Given the description of an element on the screen output the (x, y) to click on. 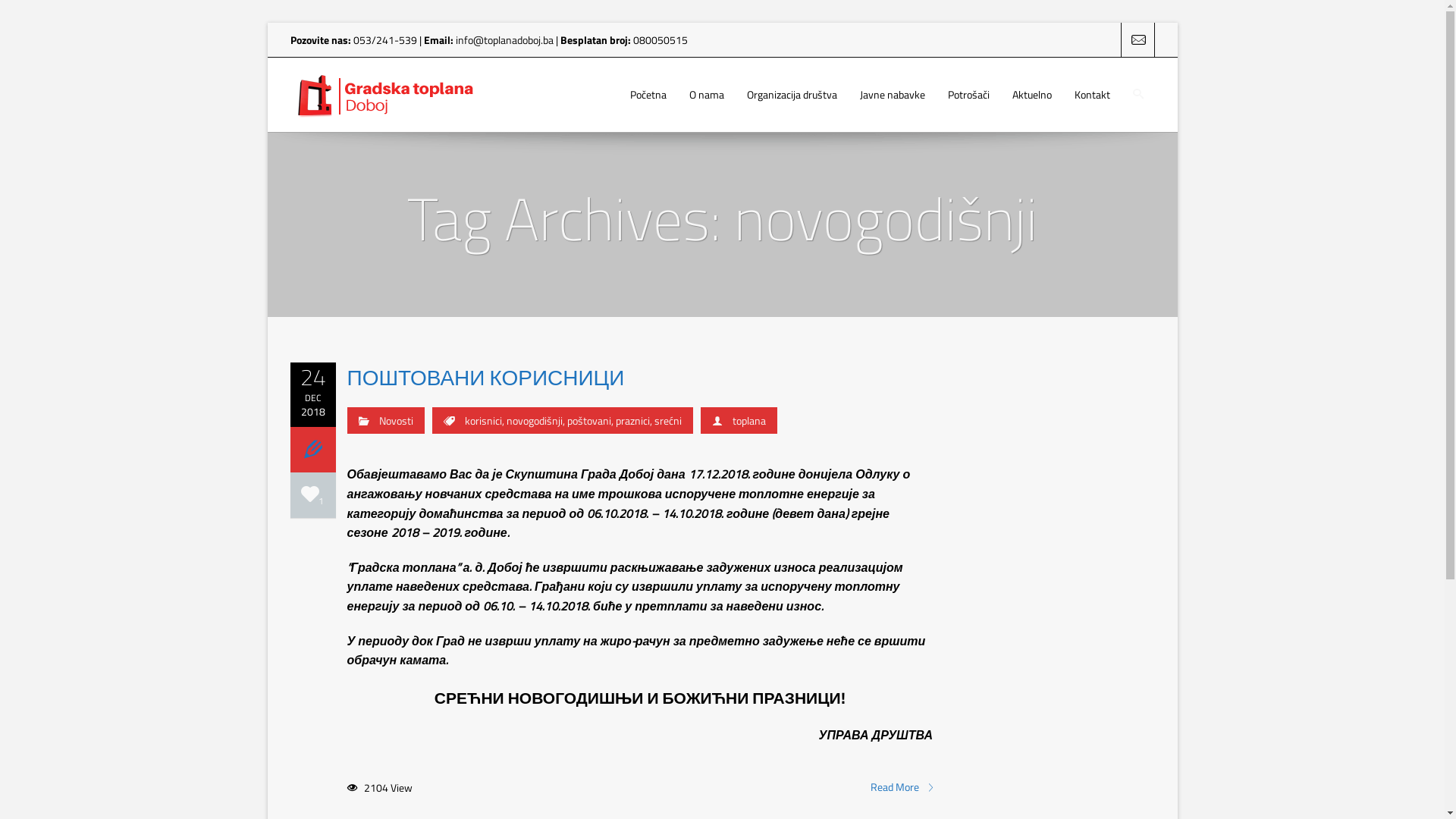
Kontakt Element type: text (1092, 94)
Novosti Element type: text (396, 420)
Gradska Toplana Doboj Element type: hover (384, 94)
Javne nabavke Element type: text (891, 94)
korisnici Element type: text (482, 420)
info@toplanadoboj.ba Element type: text (503, 39)
Read More Element type: text (901, 786)
24
DEC
2018 Element type: text (312, 391)
O nama Element type: text (706, 94)
praznici Element type: text (632, 420)
toplana Element type: text (748, 420)
Aktuelno Element type: text (1032, 94)
